Given the description of an element on the screen output the (x, y) to click on. 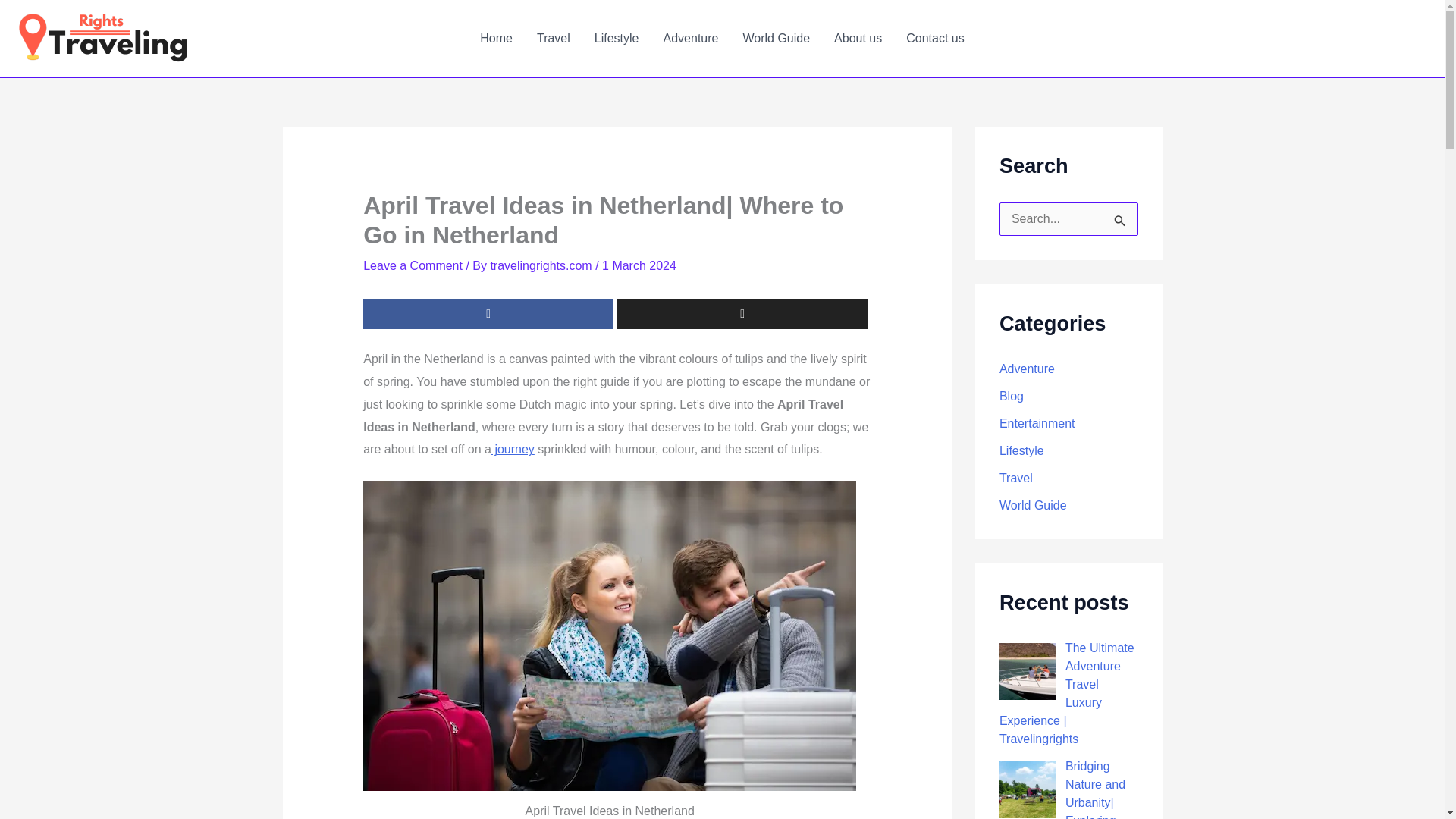
Leave a Comment (412, 265)
Contact us (934, 38)
Home (495, 38)
Travel (553, 38)
Lifestyle (616, 38)
World Guide (776, 38)
journey (513, 449)
Adventure (1026, 368)
View all posts by travelingrights.com (542, 265)
